Given the description of an element on the screen output the (x, y) to click on. 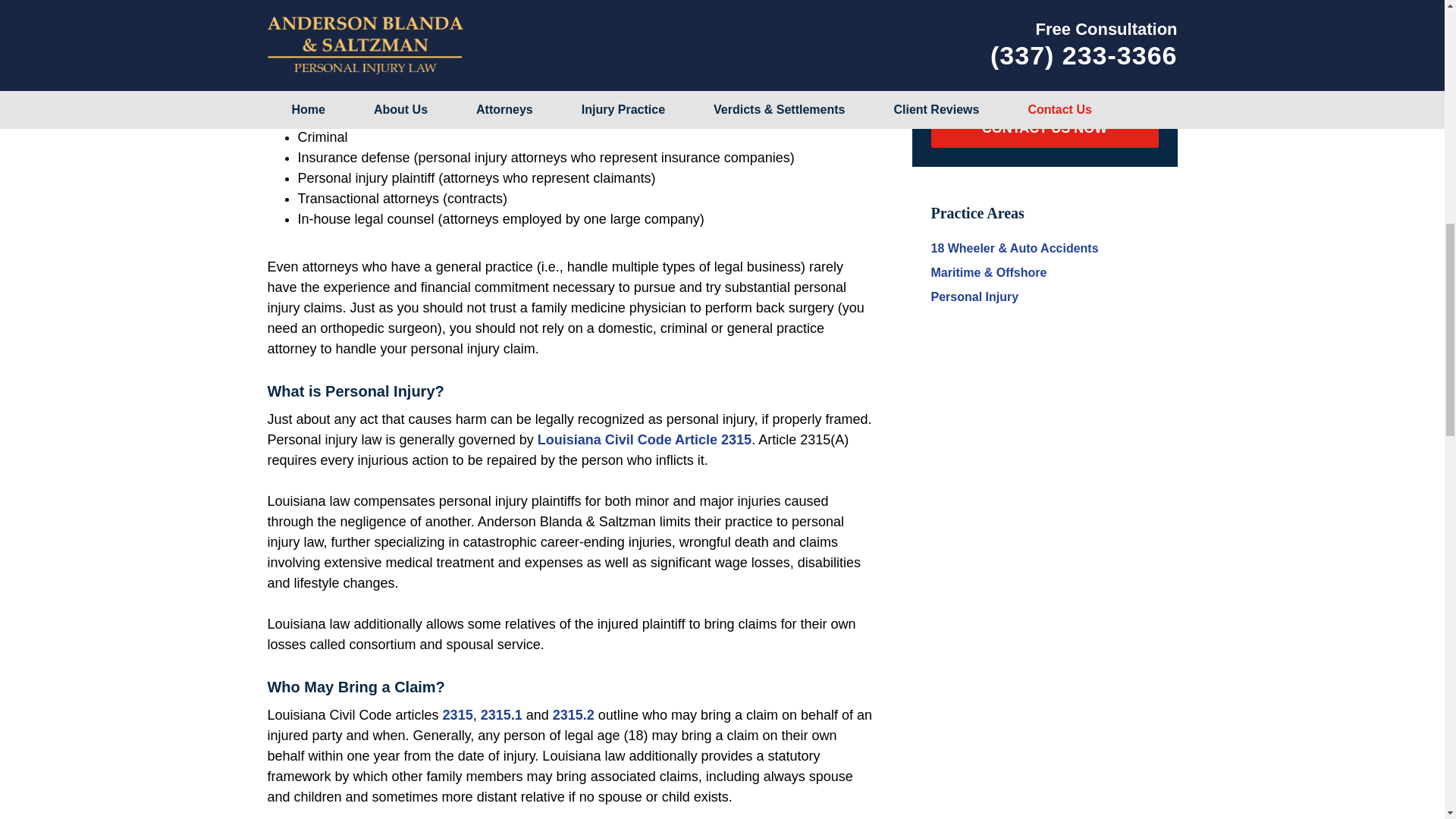
Louisiana Civil Code Article 2315 (644, 439)
Practice Areas (978, 212)
2315.2 (573, 714)
CONTACT US NOW (1044, 128)
2315 (457, 714)
Personal Injury (975, 296)
2315.1 (501, 714)
